Given the description of an element on the screen output the (x, y) to click on. 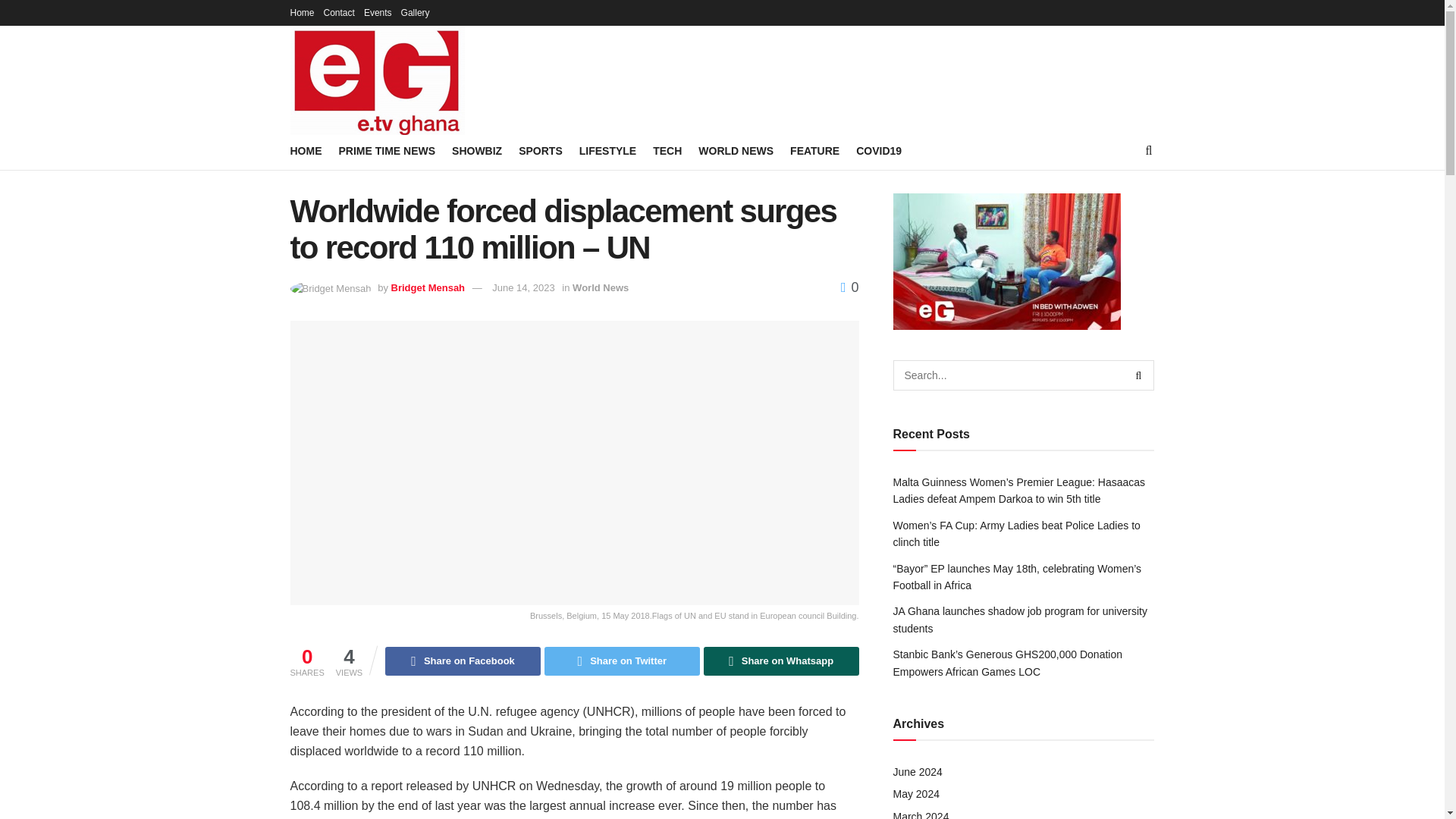
Share on Twitter (622, 661)
Events (377, 12)
Share on Whatsapp (781, 661)
WORLD NEWS (735, 150)
TECH (666, 150)
Bridget Mensah (428, 287)
SPORTS (540, 150)
Gallery (415, 12)
0 (850, 287)
SHOWBIZ (476, 150)
PRIME TIME NEWS (386, 150)
Contact (339, 12)
June 14, 2023 (523, 287)
Share on Facebook (462, 661)
LIFESTYLE (607, 150)
